Given the description of an element on the screen output the (x, y) to click on. 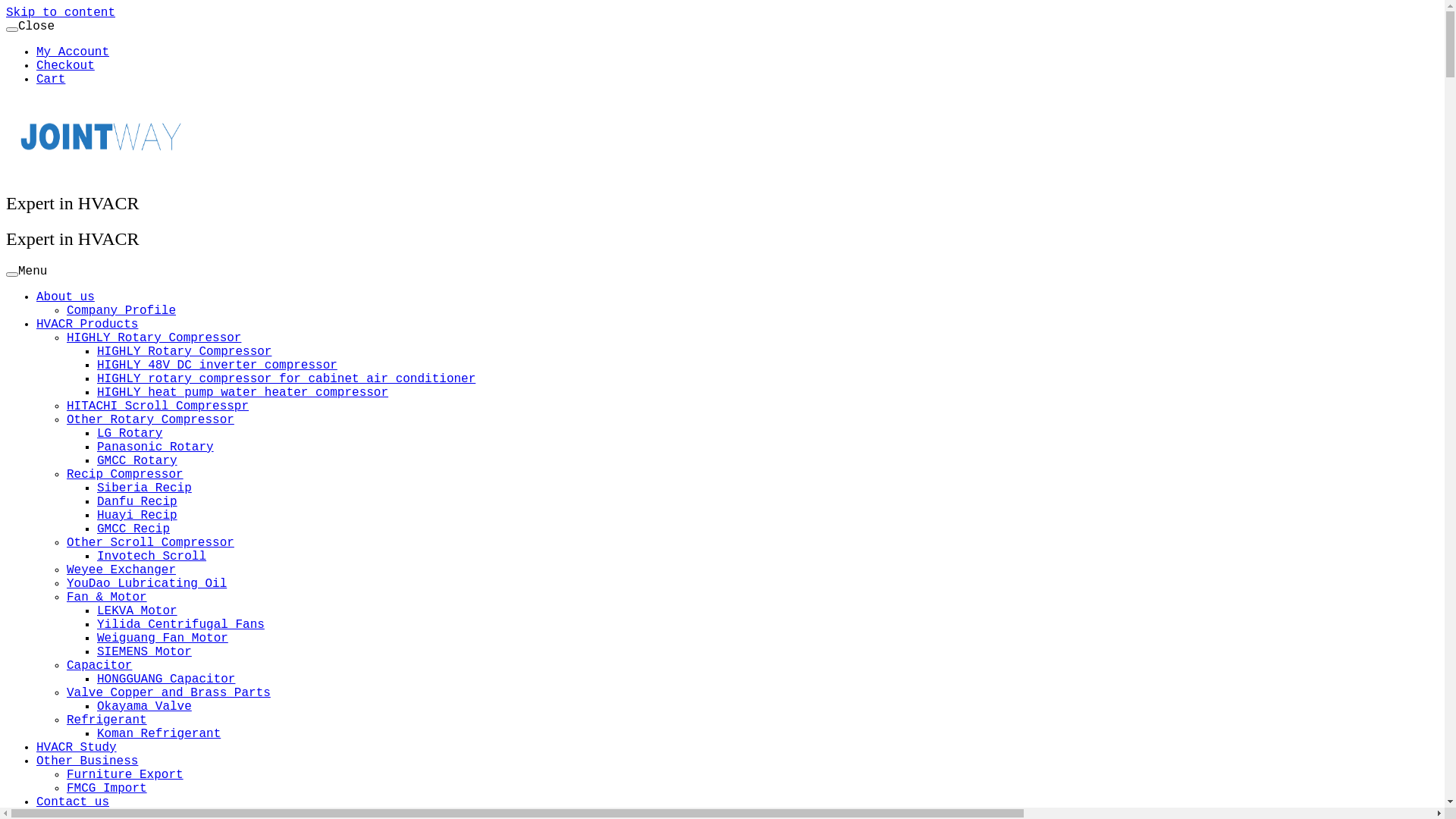
Danfu Recip Element type: text (137, 501)
Okayama Valve Element type: text (144, 706)
HIGHLY 48V DC inverter compressor Element type: text (217, 365)
Contact us Element type: text (72, 802)
HVACR Study Element type: text (76, 747)
HVACR Products Element type: text (87, 324)
GMCC Rotary Element type: text (137, 460)
HONGGUANG Capacitor Element type: text (166, 679)
Weyee Exchanger Element type: text (120, 570)
Open the menu Element type: hover (12, 274)
Koman Refrigerant Element type: text (158, 733)
Close Element type: hover (12, 29)
Other Scroll Compressor Element type: text (150, 542)
HIGHLY rotary compressor for cabinet air conditioner Element type: text (286, 378)
Panasonic Rotary Element type: text (155, 447)
Furniture Export Element type: text (124, 774)
Yilida Centrifugal Fans Element type: text (180, 624)
Fan & Motor Element type: text (106, 597)
GMCC Recip Element type: text (133, 529)
Checkout Element type: text (65, 65)
FMCG Import Element type: text (106, 788)
HIGHLY Rotary Compressor Element type: text (184, 351)
About us Element type: text (65, 297)
Company Profile Element type: text (120, 310)
Refrigerant Element type: text (106, 720)
Other Rotary Compressor Element type: text (150, 419)
Capacitor Element type: text (98, 665)
Other Business Element type: text (87, 761)
LG Rotary Element type: text (129, 433)
LEKVA Motor Element type: text (137, 611)
My Account Element type: text (72, 52)
Skip to content Element type: text (60, 12)
Cart Element type: text (50, 79)
Siberia Recip Element type: text (144, 488)
Weiguang Fan Motor Element type: text (162, 638)
Huayi Recip Element type: text (137, 515)
SIEMENS Motor Element type: text (144, 651)
HITACHI Scroll Compresspr Element type: text (157, 406)
HIGHLY Rotary Compressor Element type: text (153, 338)
YouDao Lubricating Oil Element type: text (146, 583)
Valve Copper and Brass Parts Element type: text (168, 692)
HIGHLY heat pump water heater compressor Element type: text (242, 392)
Invotech Scroll Element type: text (151, 556)
Recip Compressor Element type: text (124, 474)
